Given the description of an element on the screen output the (x, y) to click on. 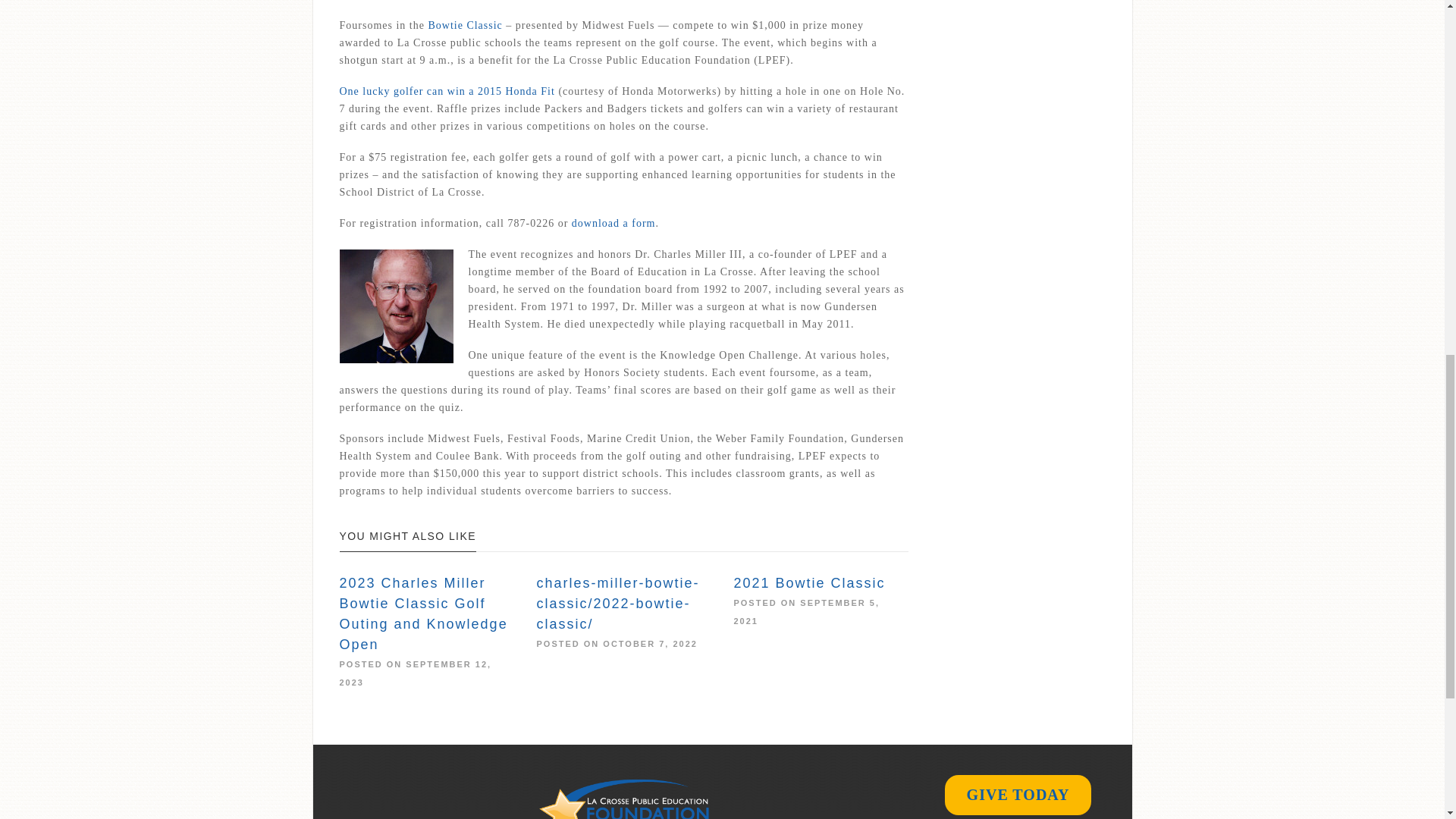
Win a Honda Fit (449, 91)
Bowtie Classic page (465, 25)
Bowtie Classic registration form (614, 223)
